Given the description of an element on the screen output the (x, y) to click on. 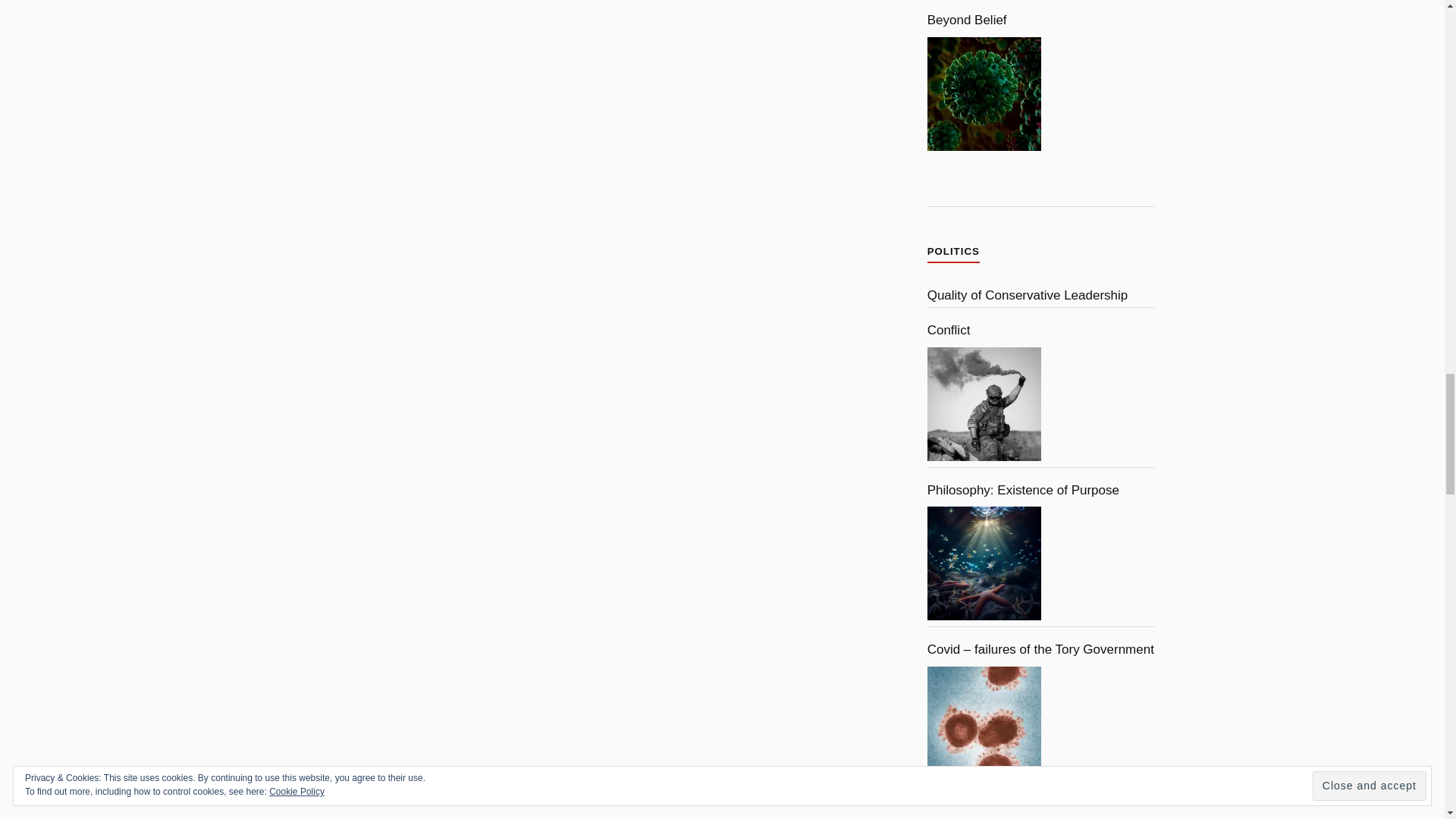
Conflict (984, 404)
Beyond Belief (984, 93)
Philosophy: Existence of Purpose (984, 562)
